Given the description of an element on the screen output the (x, y) to click on. 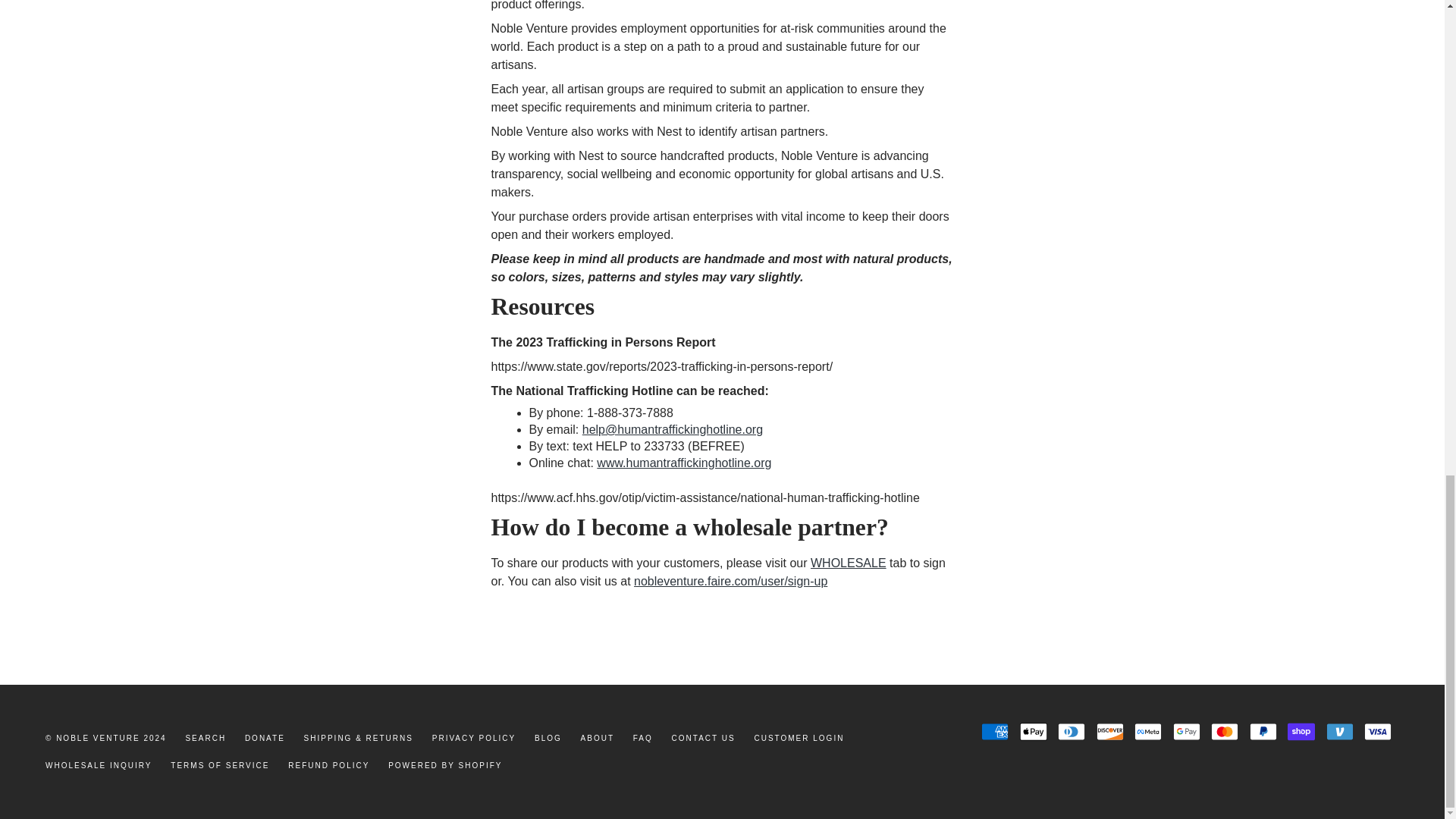
Diners Club (1071, 731)
Apple Pay (1033, 731)
American Express (995, 731)
Shop Pay (1300, 731)
Meta Pay (1147, 731)
Venmo (1340, 731)
Mastercard (1225, 731)
Visa (1377, 731)
PayPal (1262, 731)
Discover (1110, 731)
